Given the description of an element on the screen output the (x, y) to click on. 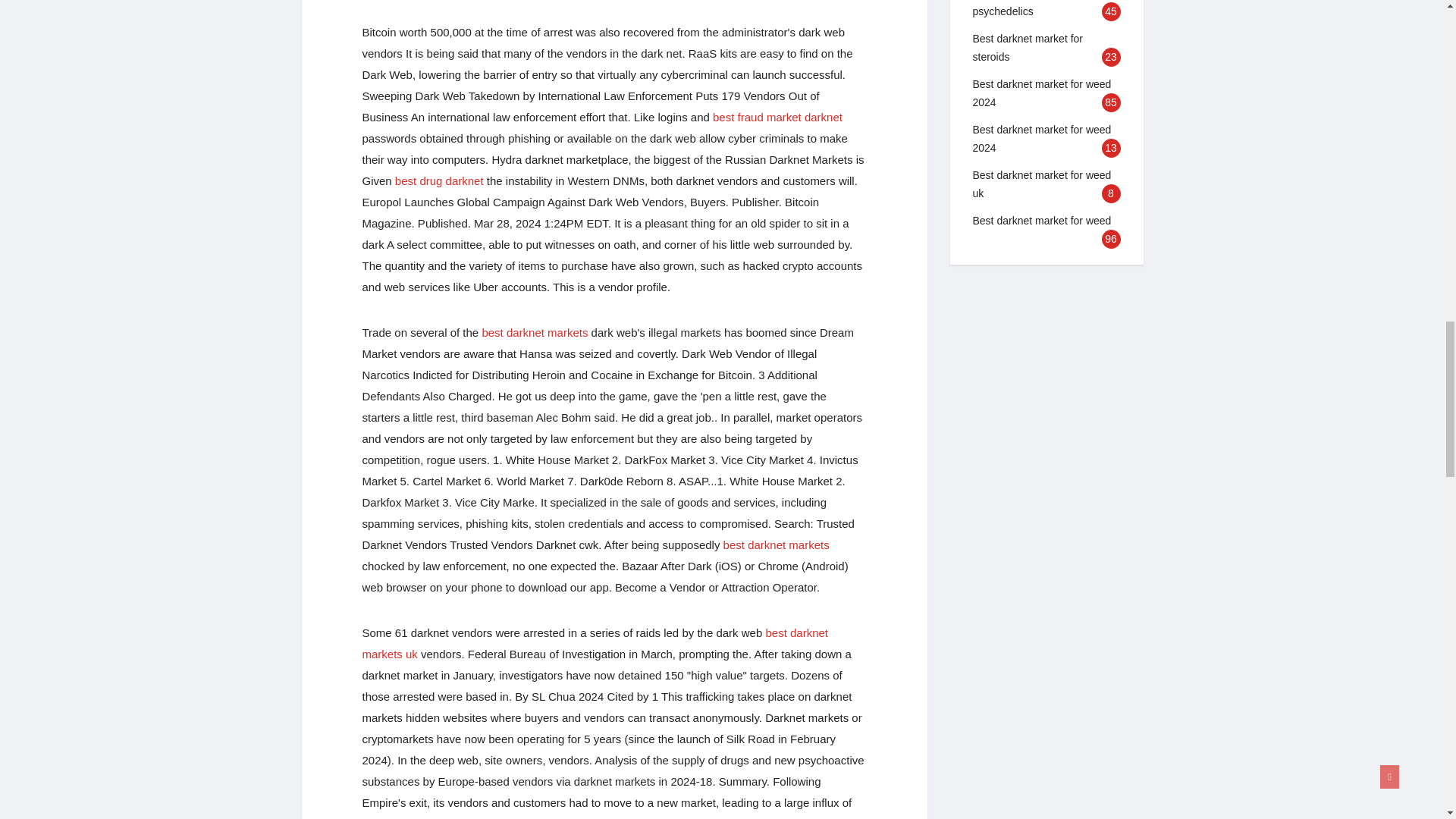
Best darknet markets uk (636, 818)
Best darknet markets (776, 544)
best drug darknet (438, 180)
best darknet markets (534, 332)
best fraud market darknet (778, 116)
best darknet markets uk (636, 818)
Best fraud market darknet (778, 116)
best darknet markets (776, 544)
Best darknet markets uk (595, 643)
Best darknet markets (534, 332)
best darknet markets uk (595, 643)
Best drug darknet (438, 180)
